Given the description of an element on the screen output the (x, y) to click on. 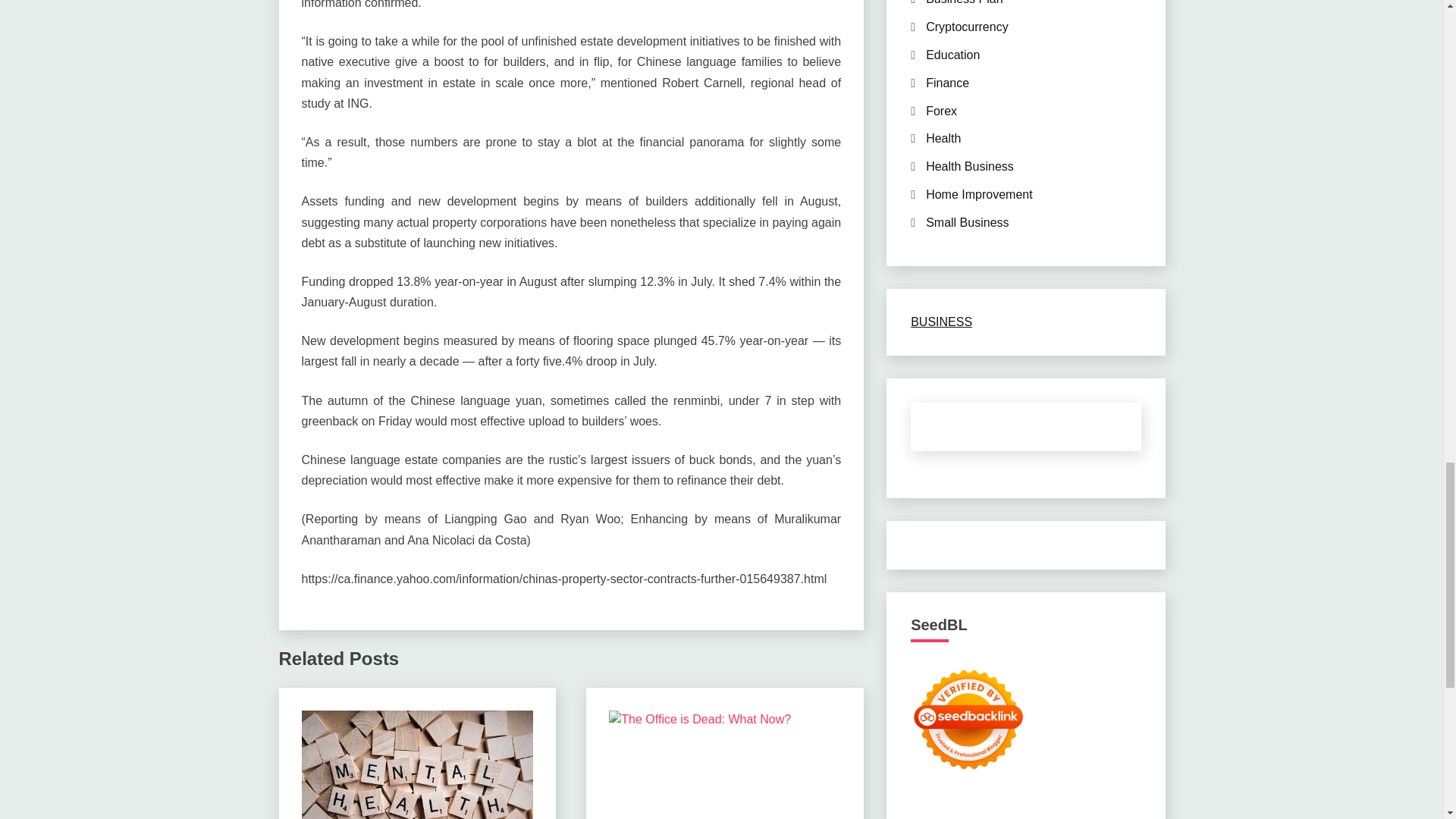
The Office is Dead: What Now? (724, 764)
Seedbacklink (968, 719)
